Given the description of an element on the screen output the (x, y) to click on. 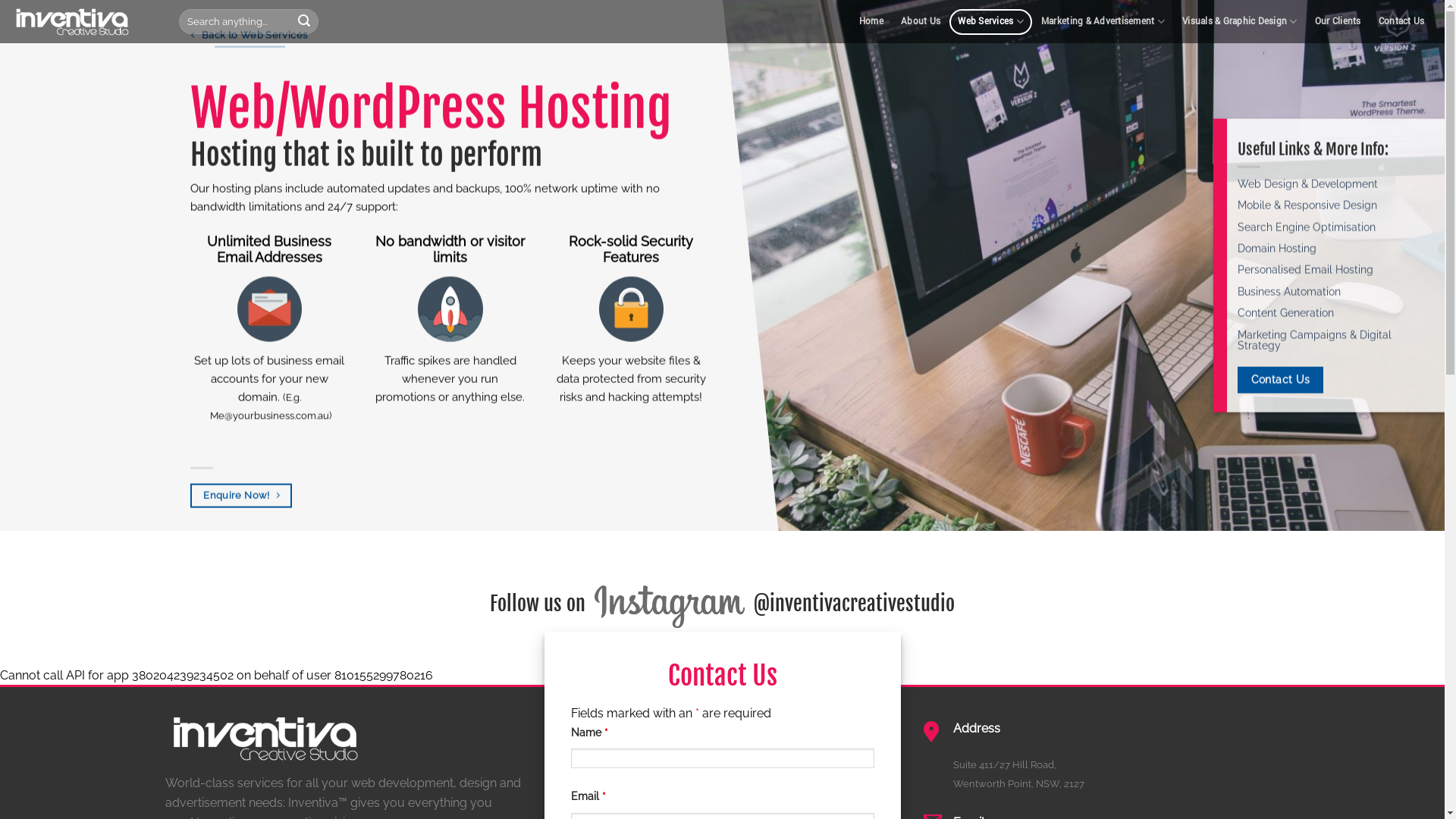
Marketing Campaigns & Digital Strategy Element type: text (1314, 339)
Content Generation Element type: text (1285, 313)
Domain Hosting Element type: text (1276, 248)
Home Element type: text (870, 21)
Search Engine Optimisation Element type: text (1306, 226)
Visuals & Graphic Design Element type: text (1239, 21)
Web Design & Development Element type: text (1307, 183)
Marketing & Advertisement Element type: text (1102, 21)
Contact Us Element type: text (1401, 21)
Web Services Element type: text (990, 21)
Our Clients Element type: text (1337, 21)
Back to Web Services Element type: text (249, 35)
Contact Us Element type: text (1280, 380)
Mobile & Responsive Design Element type: text (1307, 205)
Search Element type: text (303, 21)
Personalised Email Hosting Element type: text (1305, 269)
Enquire Now! Element type: text (240, 495)
About Us Element type: text (919, 21)
Business Automation Element type: text (1288, 291)
